Given the description of an element on the screen output the (x, y) to click on. 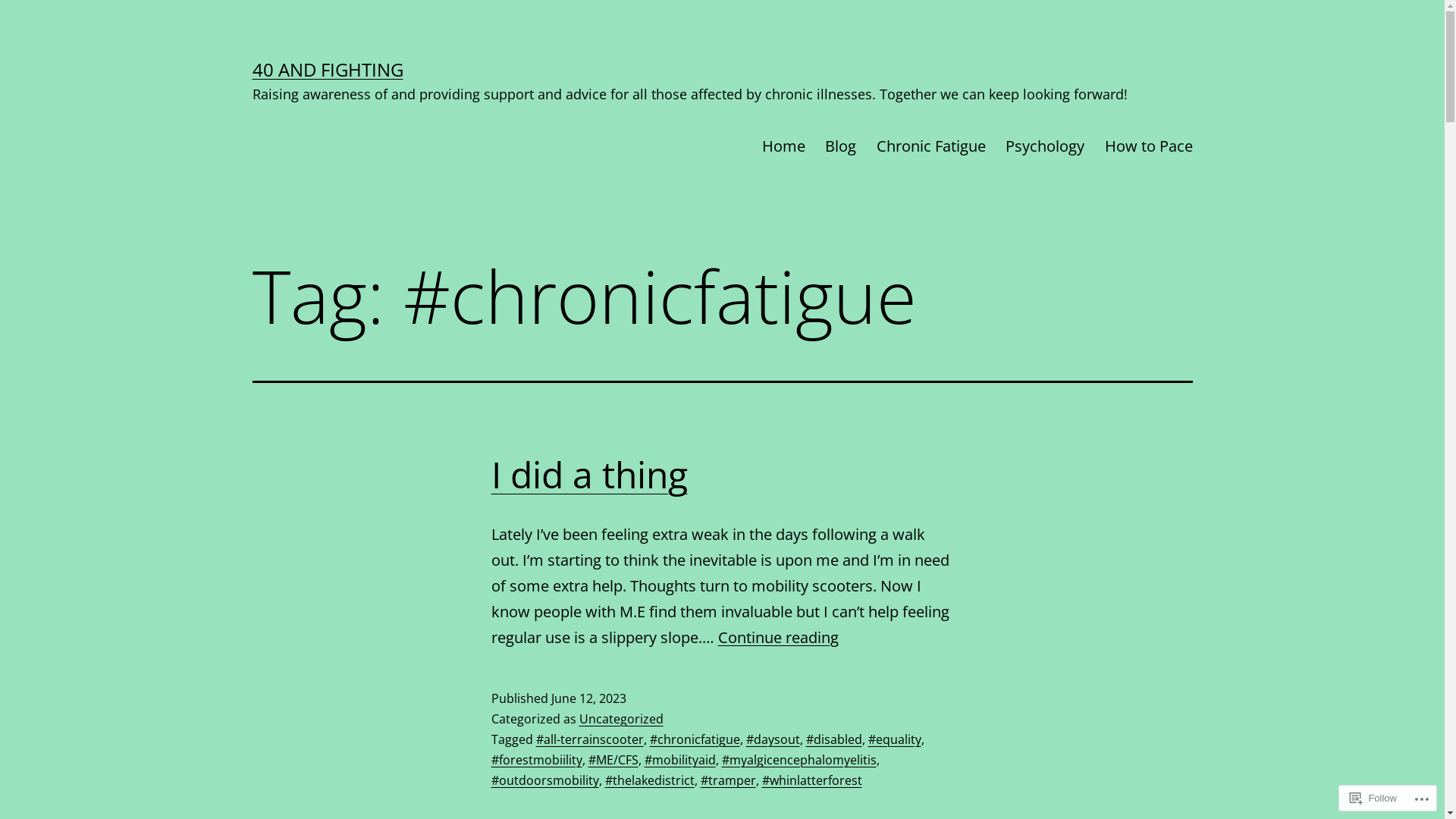
#equality Element type: text (893, 739)
I did a thing Element type: text (589, 473)
Follow Element type: text (1372, 797)
40 AND FIGHTING Element type: text (326, 68)
Uncategorized Element type: text (621, 718)
How to Pace Element type: text (1147, 144)
#myalgicencephalomyelitis Element type: text (798, 759)
Blog Element type: text (840, 144)
Home Element type: text (783, 144)
#tramper Element type: text (728, 779)
#daysout Element type: text (773, 739)
Chronic Fatigue Element type: text (930, 144)
#chronicfatigue Element type: text (694, 739)
Continue reading Element type: text (777, 637)
#disabled Element type: text (833, 739)
#ME/CFS Element type: text (613, 759)
#whinlatterforest Element type: text (811, 779)
#mobilityaid Element type: text (679, 759)
#all-terrainscooter Element type: text (589, 739)
Psychology Element type: text (1044, 144)
#outdoorsmobility Element type: text (545, 779)
#thelakedistrict Element type: text (649, 779)
#forestmobiility Element type: text (536, 759)
